Given the description of an element on the screen output the (x, y) to click on. 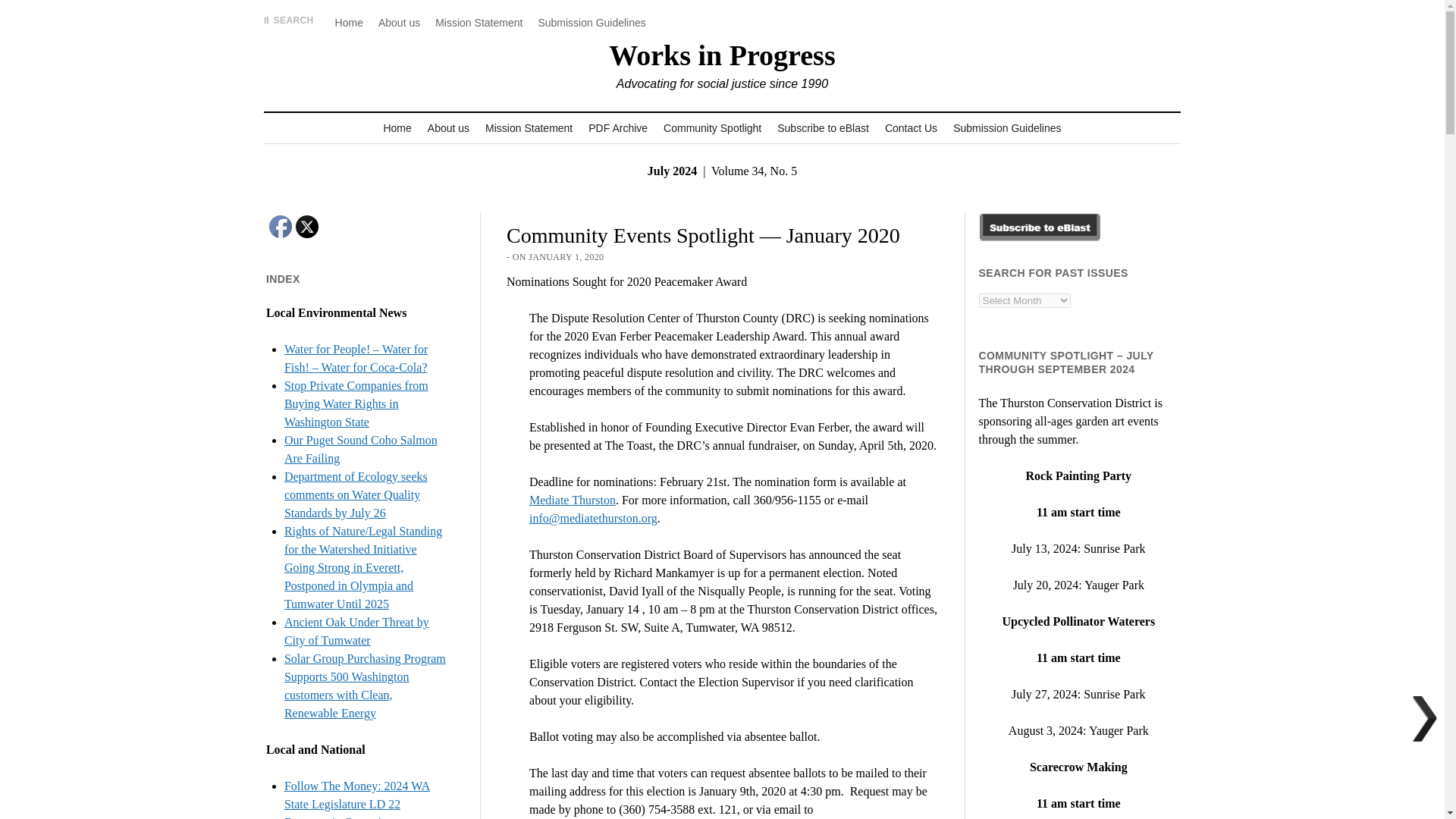
Mediate Thurston (572, 499)
Home (397, 128)
Submission Guidelines (1006, 128)
Facebook (280, 226)
Home (349, 22)
PDF Archive (617, 128)
Twitter (306, 226)
Mission Statement (528, 128)
Submission Guidelines (590, 22)
SEARCH (288, 20)
Works in Progress (721, 55)
Ancient Oak Under Threat by City of Tumwater (356, 631)
